Given the description of an element on the screen output the (x, y) to click on. 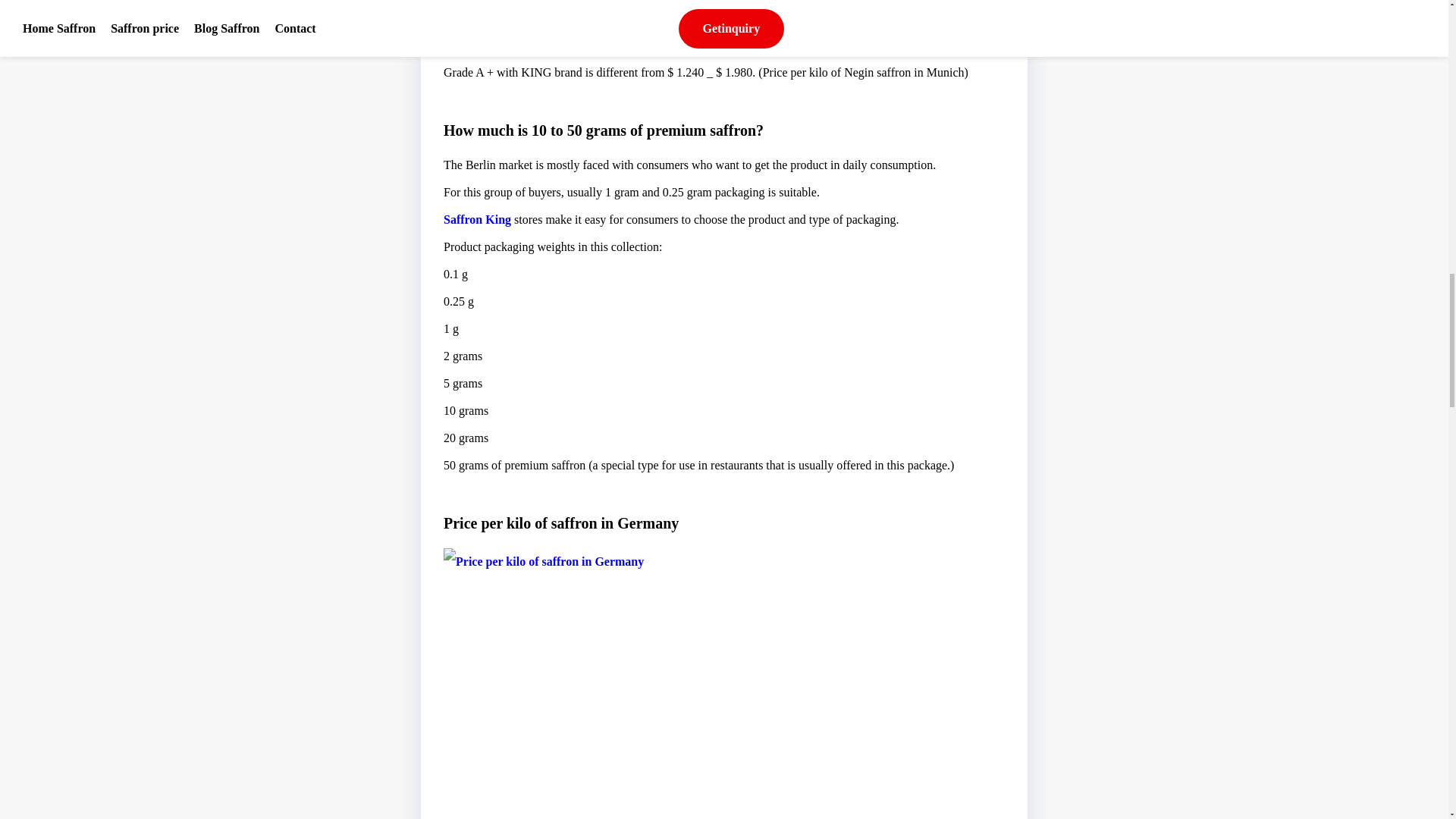
Saffron King (477, 218)
